Given the description of an element on the screen output the (x, y) to click on. 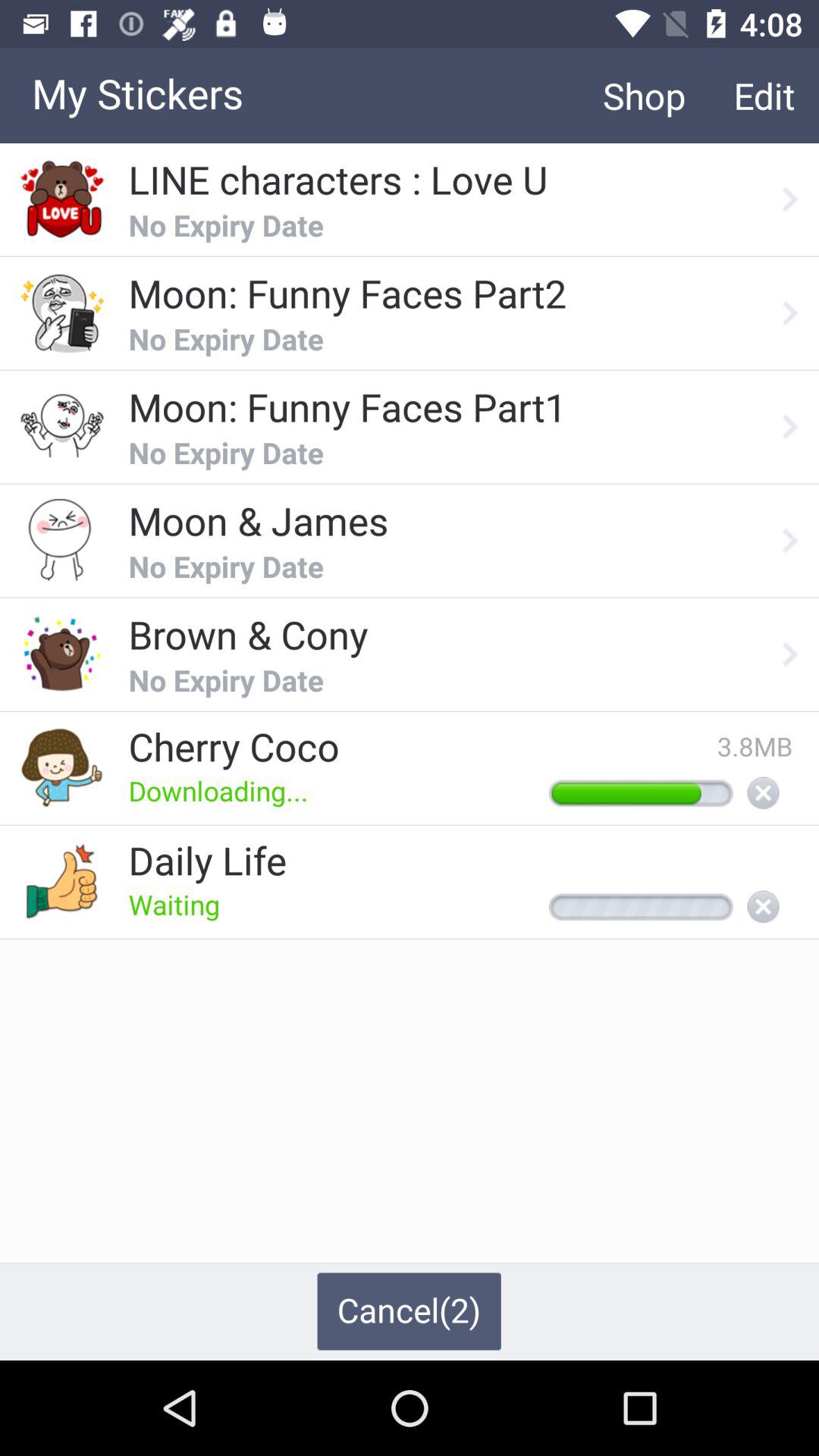
cancel this download (762, 794)
